Given the description of an element on the screen output the (x, y) to click on. 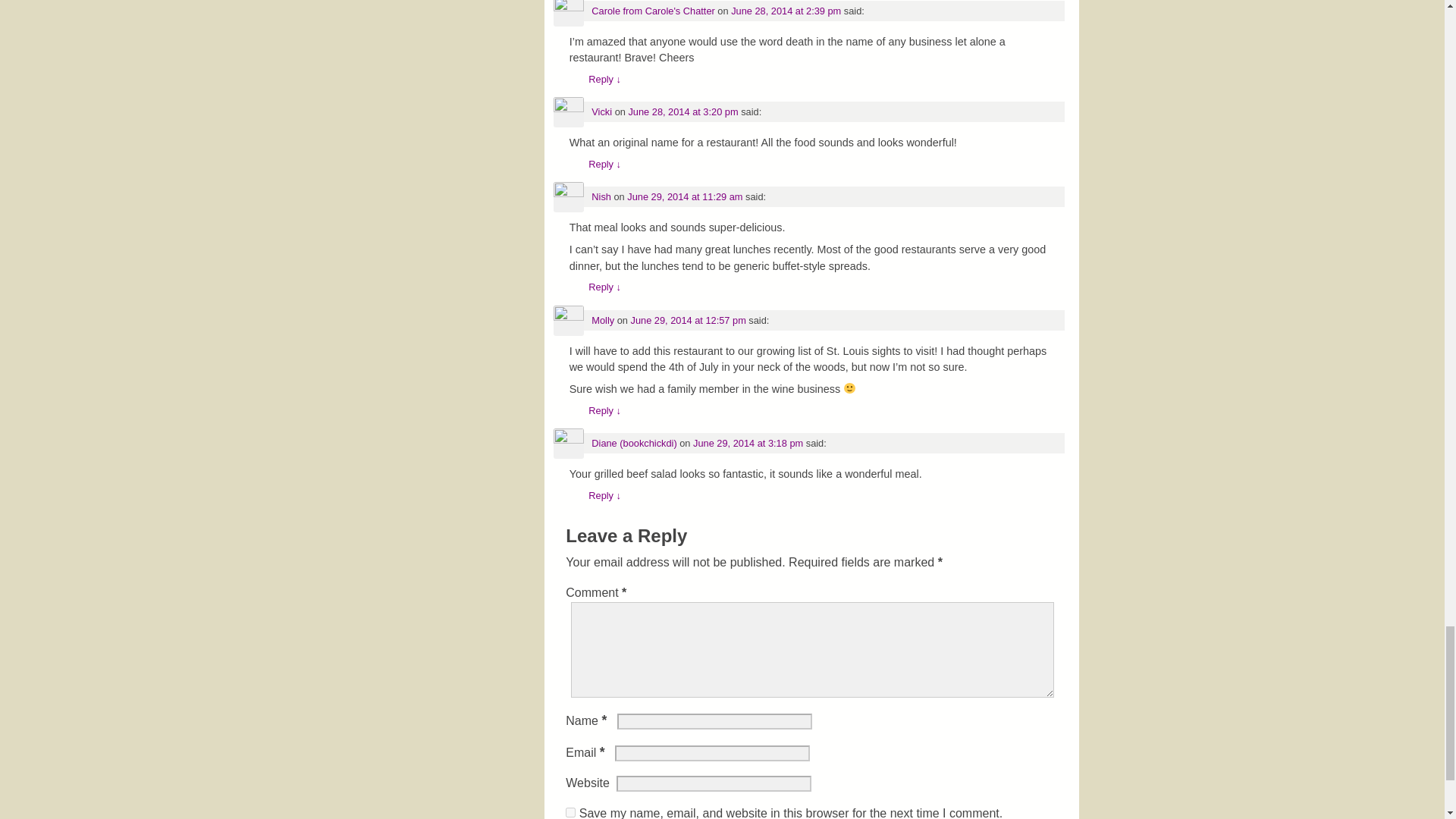
yes (570, 812)
